Given the description of an element on the screen output the (x, y) to click on. 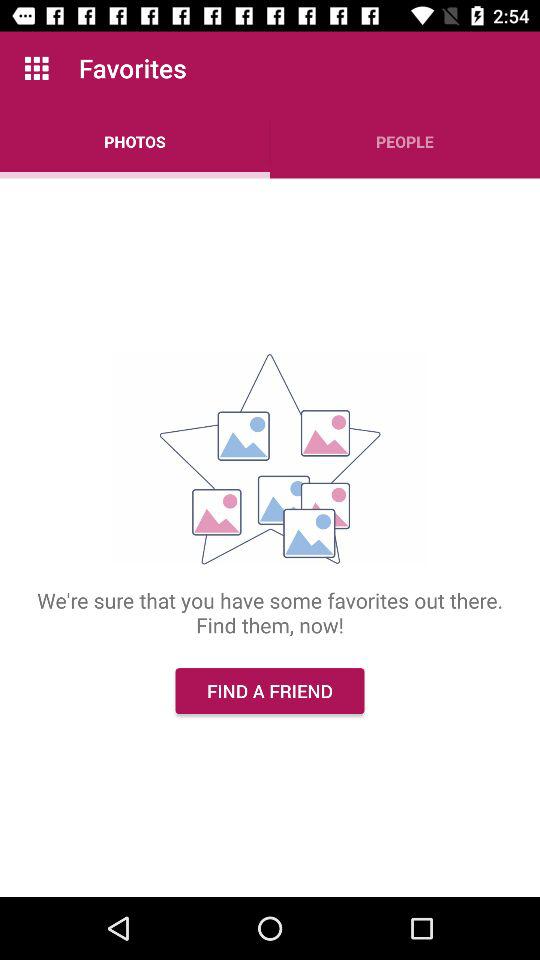
scroll until find a friend (269, 690)
